Given the description of an element on the screen output the (x, y) to click on. 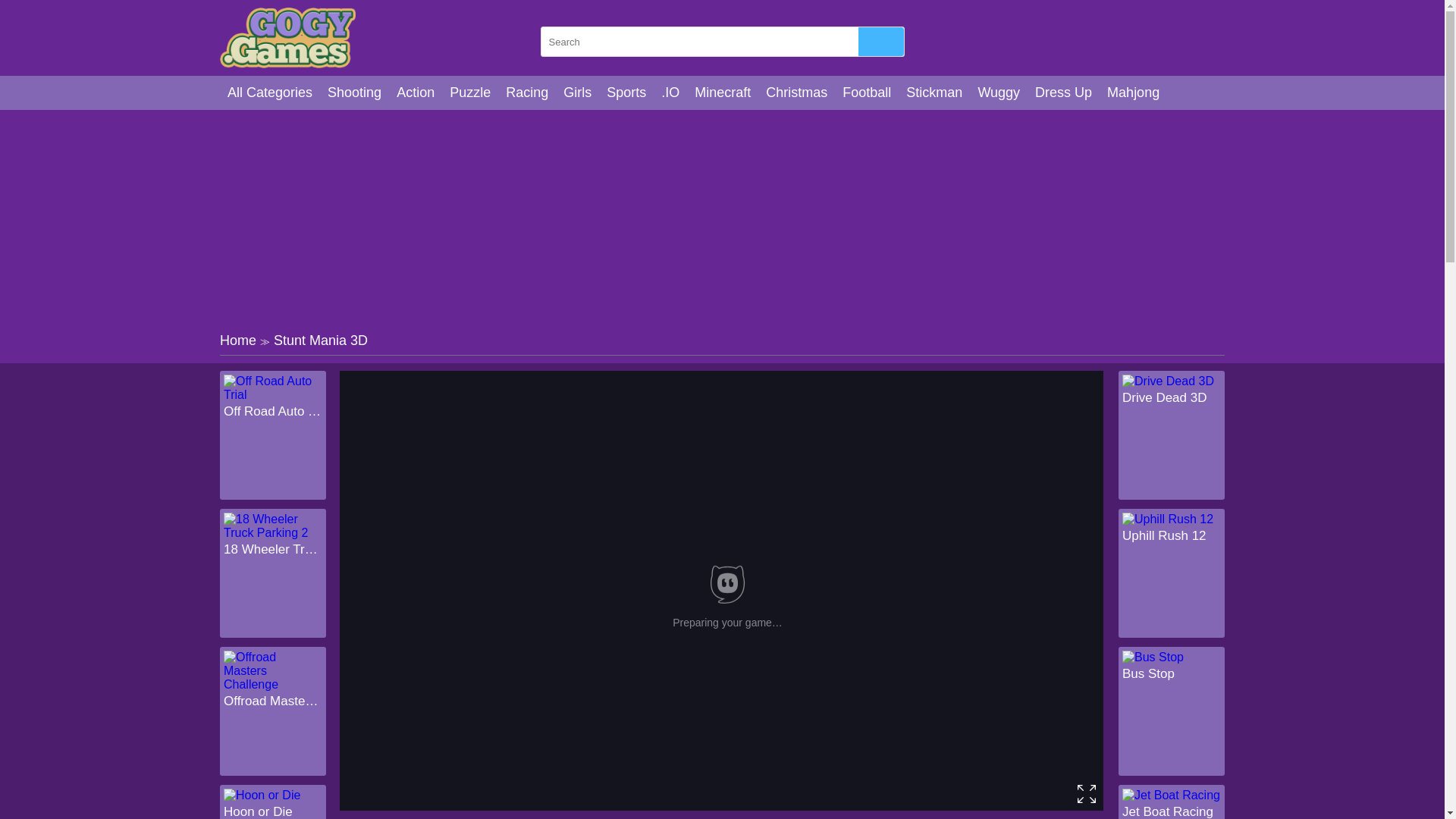
Home (237, 340)
Girls (577, 92)
Dress Up (1063, 92)
Puzzle (469, 92)
Mahjong (1133, 92)
.IO (670, 92)
Offroad Masters Challenge (272, 701)
Wuggy (998, 92)
Shooting (354, 92)
Uphill Rush 12 (1171, 535)
Minecraft (722, 92)
.IO (670, 92)
Hoon or Die (272, 811)
Dress Up (1063, 92)
18 Wheeler Truck Parking 2 (272, 549)
